Given the description of an element on the screen output the (x, y) to click on. 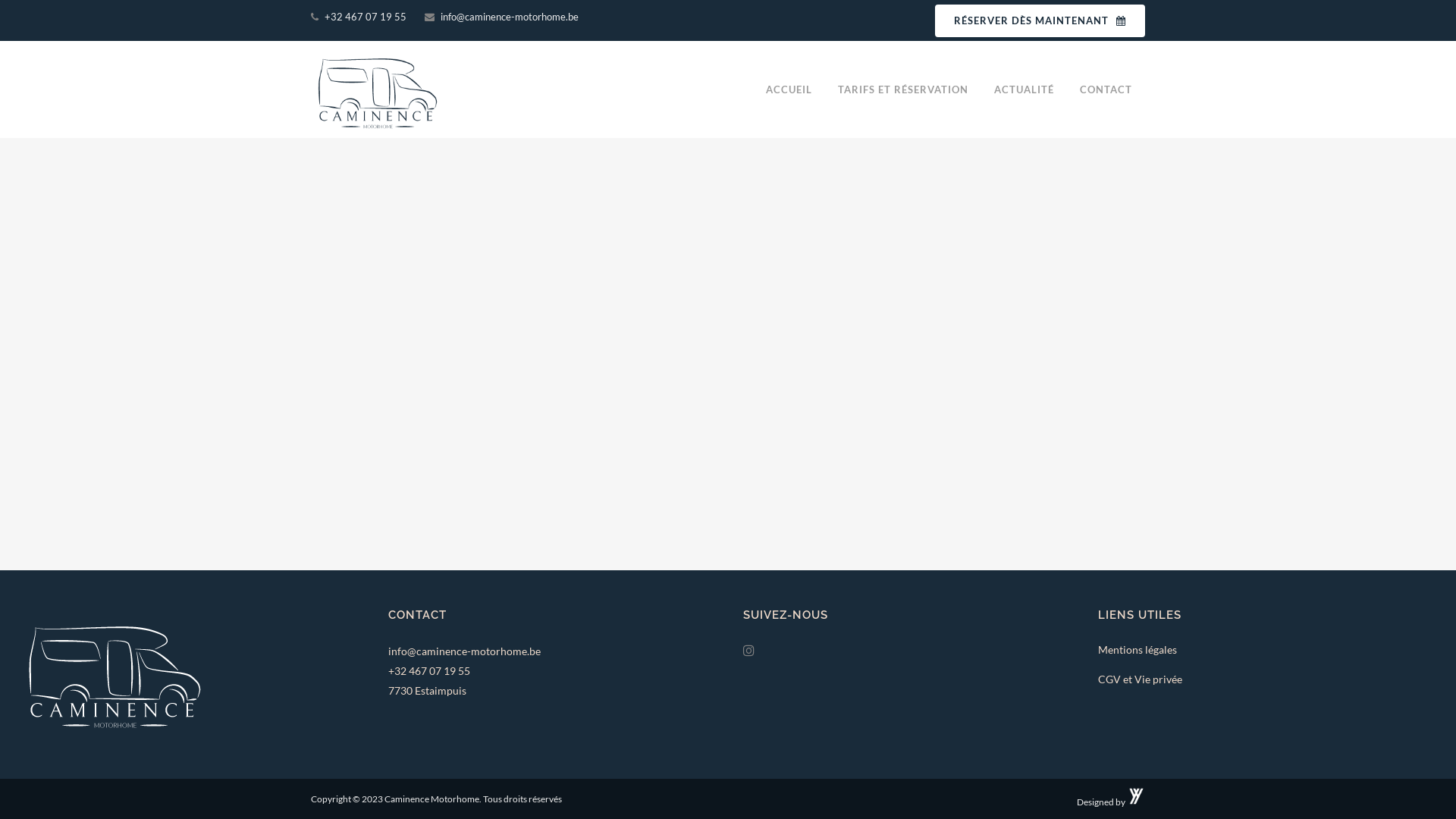
+32 467 07 19 55 Element type: text (429, 670)
info@caminence-motorhome.be Element type: text (507, 16)
+32 467 07 19 55 Element type: text (363, 16)
info@caminence-motorhome.be Element type: text (464, 650)
ACCUEIL Element type: text (789, 89)
CONTACT Element type: text (1105, 89)
